Given the description of an element on the screen output the (x, y) to click on. 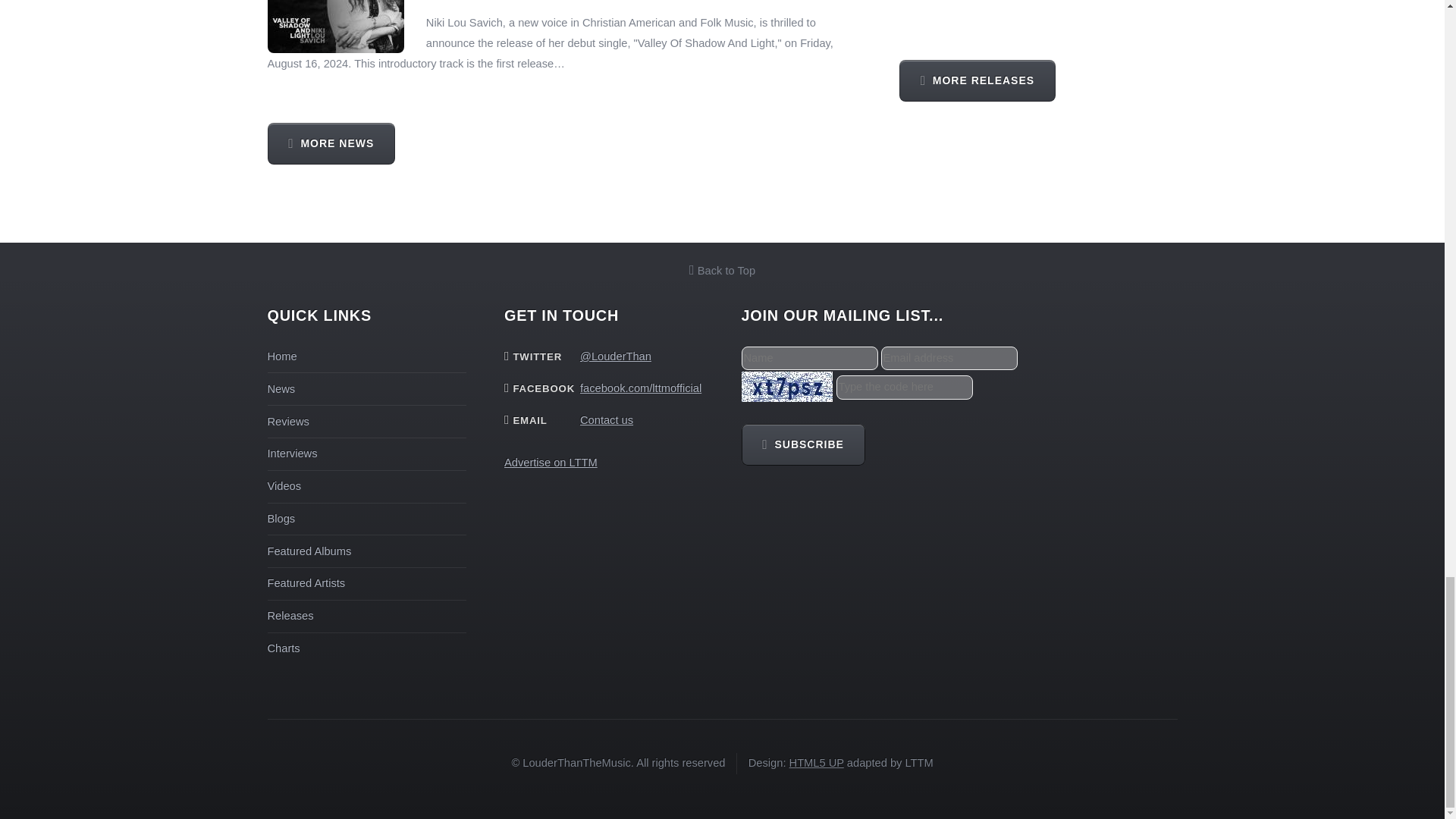
Reviews (287, 421)
News (280, 388)
Home (281, 356)
Videos (283, 485)
MORE RELEASES (977, 80)
MORE NEWS (330, 143)
Interviews (291, 453)
 Back to Top (721, 270)
